Given the description of an element on the screen output the (x, y) to click on. 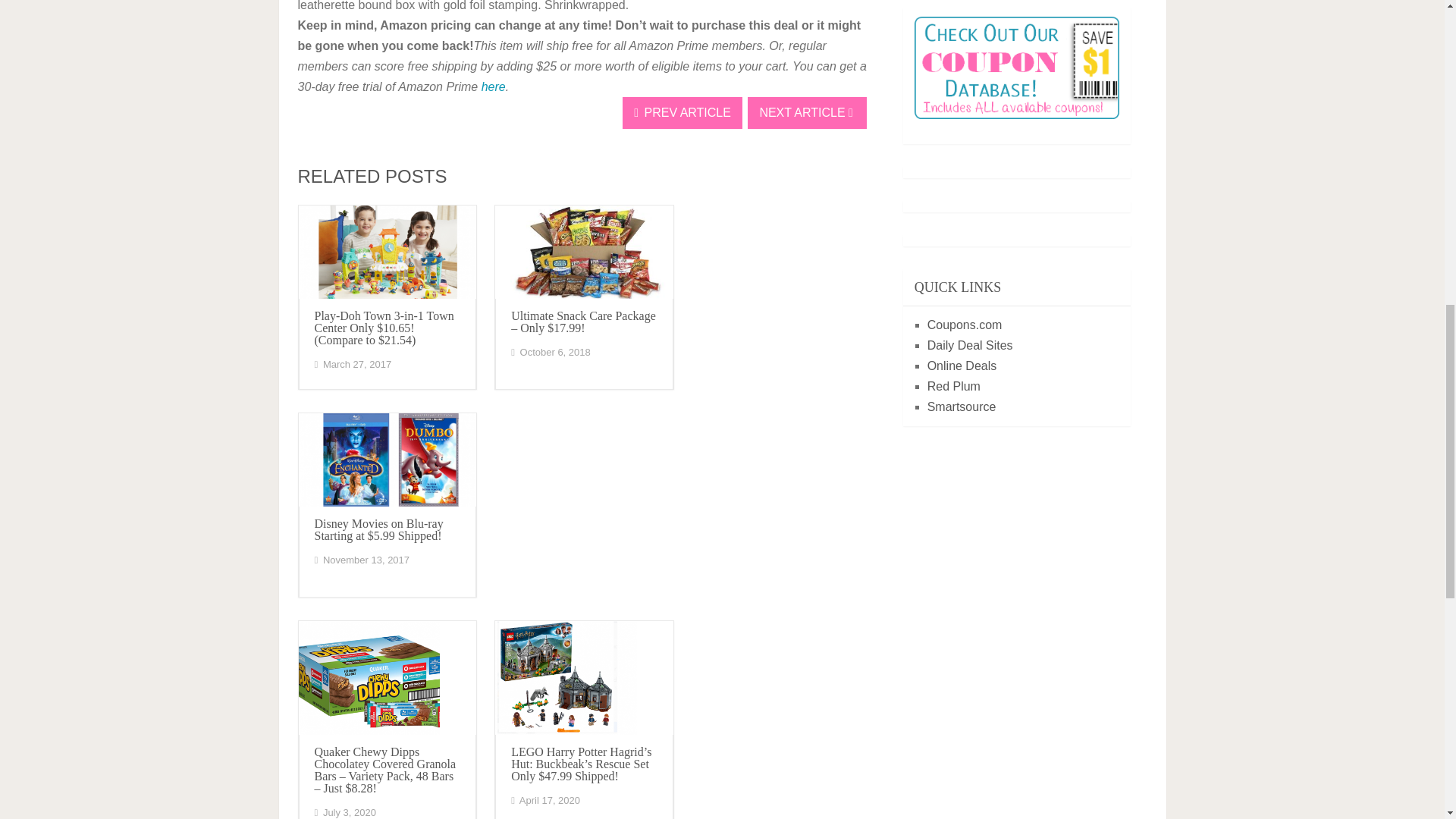
PREV ARTICLE (682, 112)
here (493, 86)
NEXT ARTICLE (807, 112)
